Given the description of an element on the screen output the (x, y) to click on. 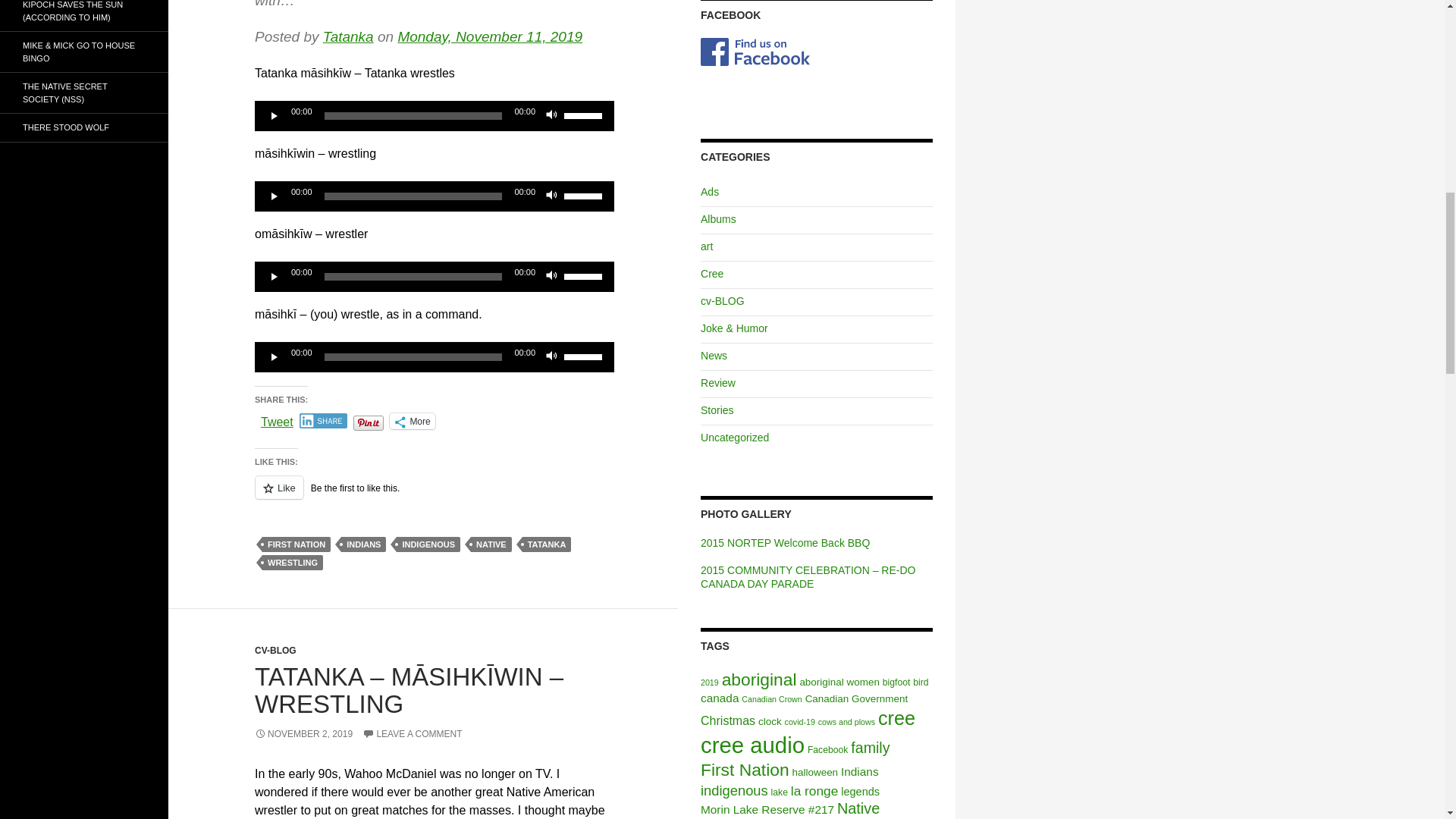
Mute (551, 356)
Play (274, 276)
Like or Reblog (434, 495)
Mute (551, 115)
Play (274, 196)
Mute (551, 276)
Play (274, 356)
Play (274, 115)
SHARE (323, 420)
Mute (551, 196)
Monday, November 11, 2019 (489, 36)
Tatanka (348, 36)
Tweet (277, 419)
